Given the description of an element on the screen output the (x, y) to click on. 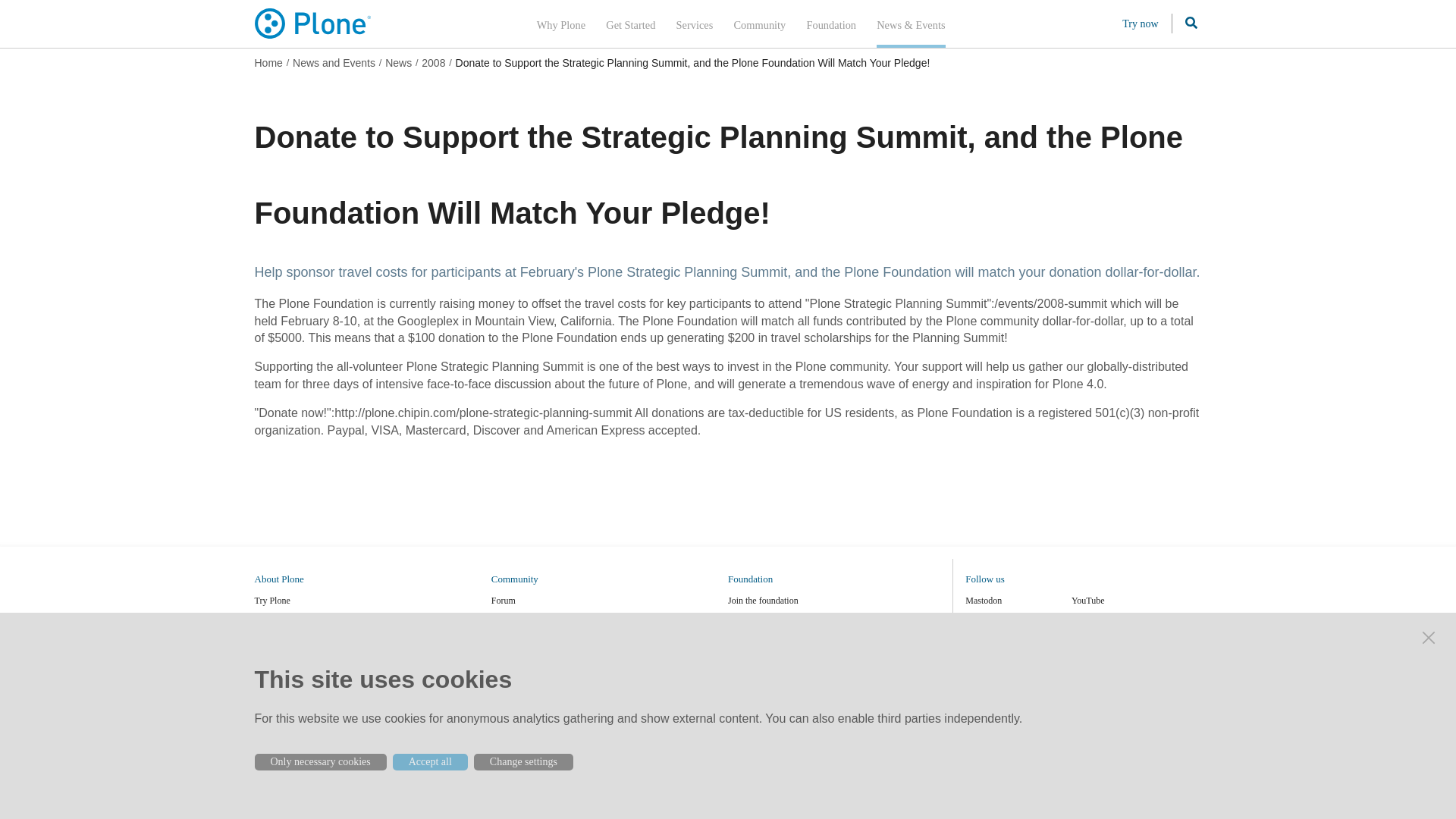
Home (268, 62)
Plone.org (313, 23)
Foundation (831, 23)
Get Started (630, 23)
Plone.org (313, 785)
Why Plone (561, 23)
Community (759, 23)
